Given the description of an element on the screen output the (x, y) to click on. 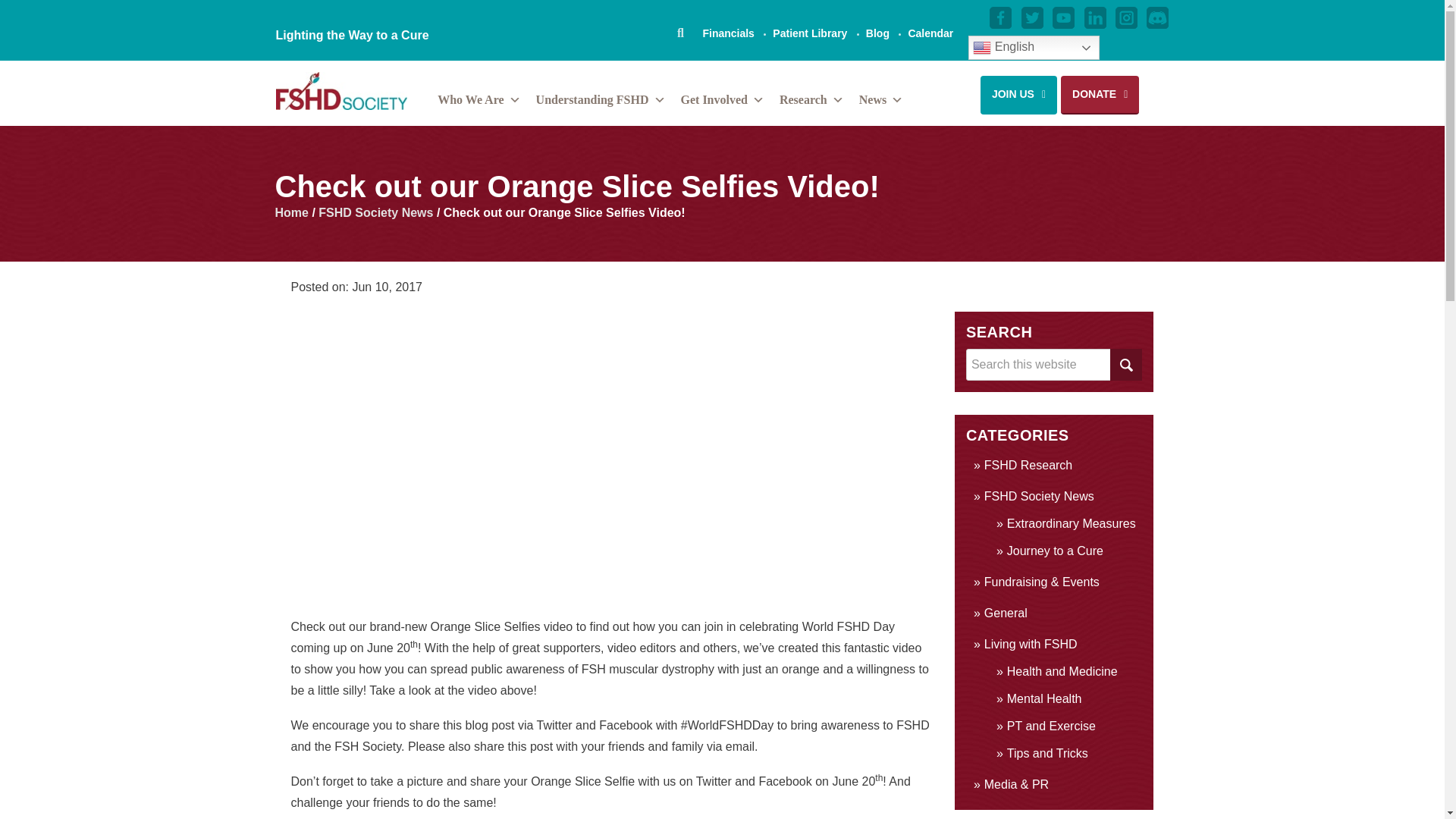
Search (1125, 364)
Patient Library (810, 33)
Blog (877, 33)
Calendar (930, 33)
English (1033, 47)
Who We Are (478, 102)
Search (1125, 364)
Financials (727, 33)
